Given the description of an element on the screen output the (x, y) to click on. 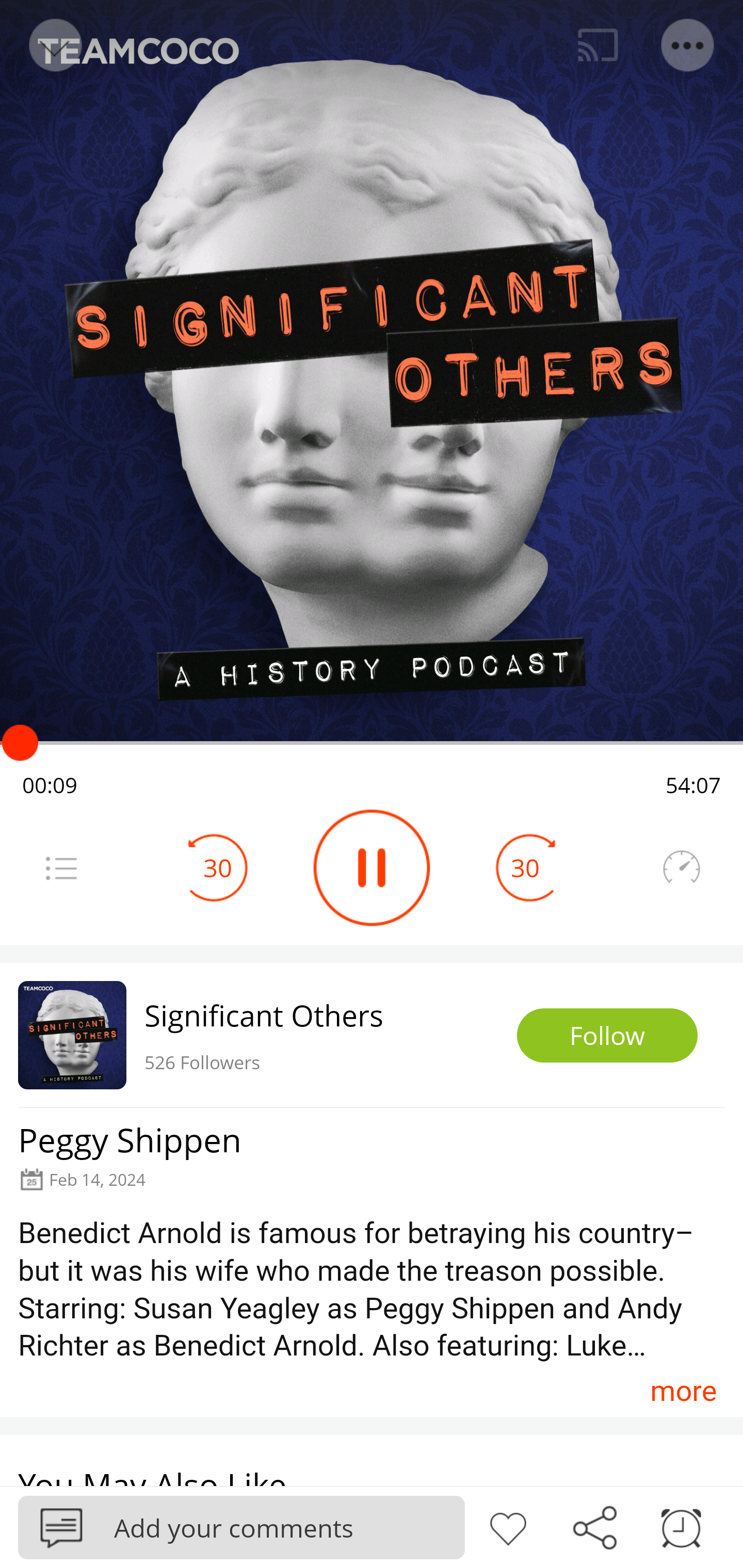
Back (53, 45)
Cast. Disconnected (597, 45)
Menu (688, 45)
Play (371, 867)
30 Seek Backward (217, 867)
30 Seek Forward (525, 867)
Menu (60, 867)
Speedometer (681, 867)
Significant Others 526 Followers Follow (371, 1034)
Follow (607, 1035)
more (682, 1390)
Like (508, 1526)
Share (594, 1526)
Sleep timer (681, 1526)
Podbean Add your comments (241, 1526)
